Given the description of an element on the screen output the (x, y) to click on. 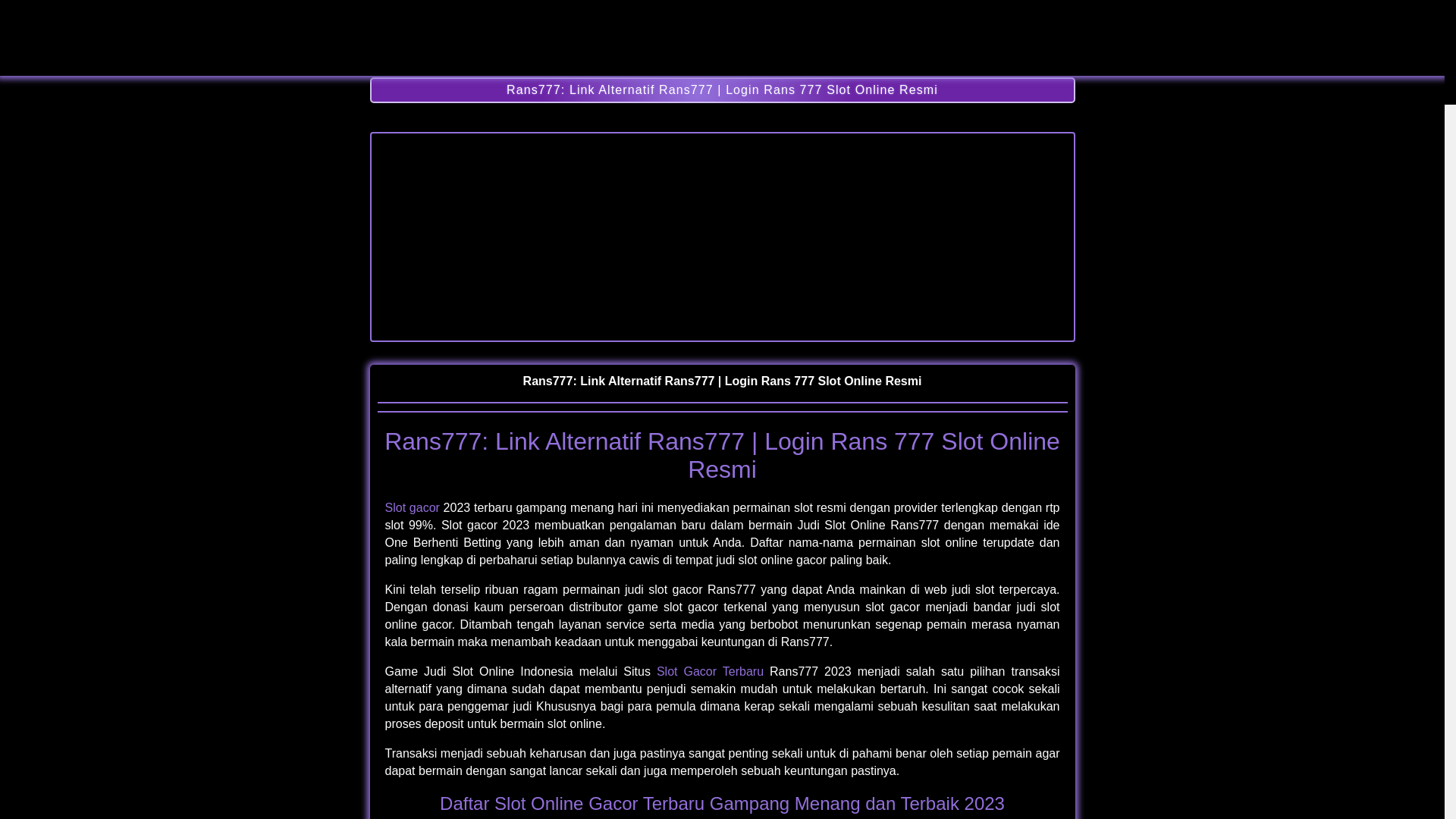
Slot Gacor Terbaru Element type: text (709, 671)
Slot gacor Element type: text (412, 507)
Rans777 Element type: hover (722, 236)
Rans777 Element type: hover (722, 62)
